Given the description of an element on the screen output the (x, y) to click on. 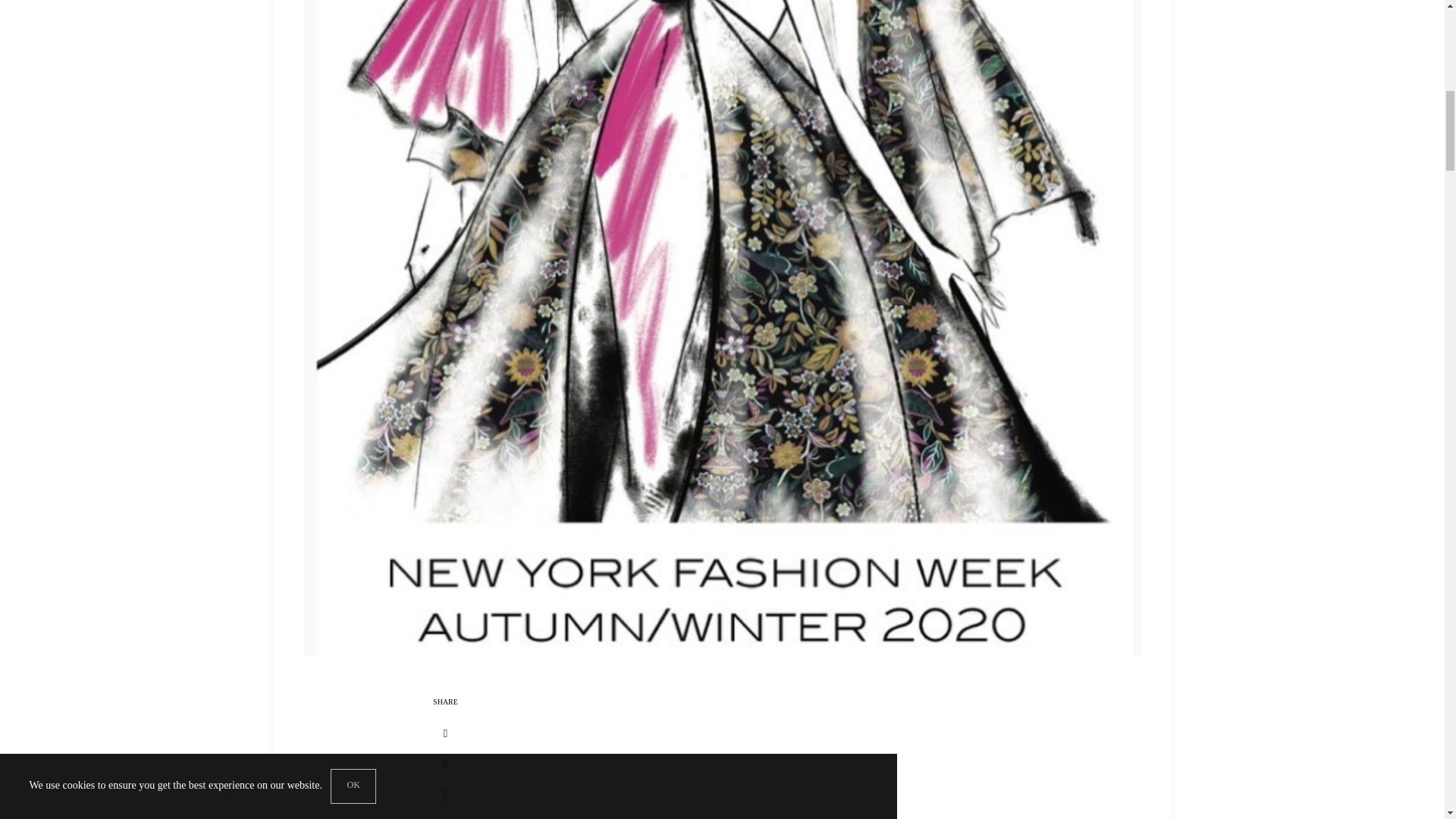
Dennis Basso February 2020 Runway at NYFW: The Shows (763, 755)
